Given the description of an element on the screen output the (x, y) to click on. 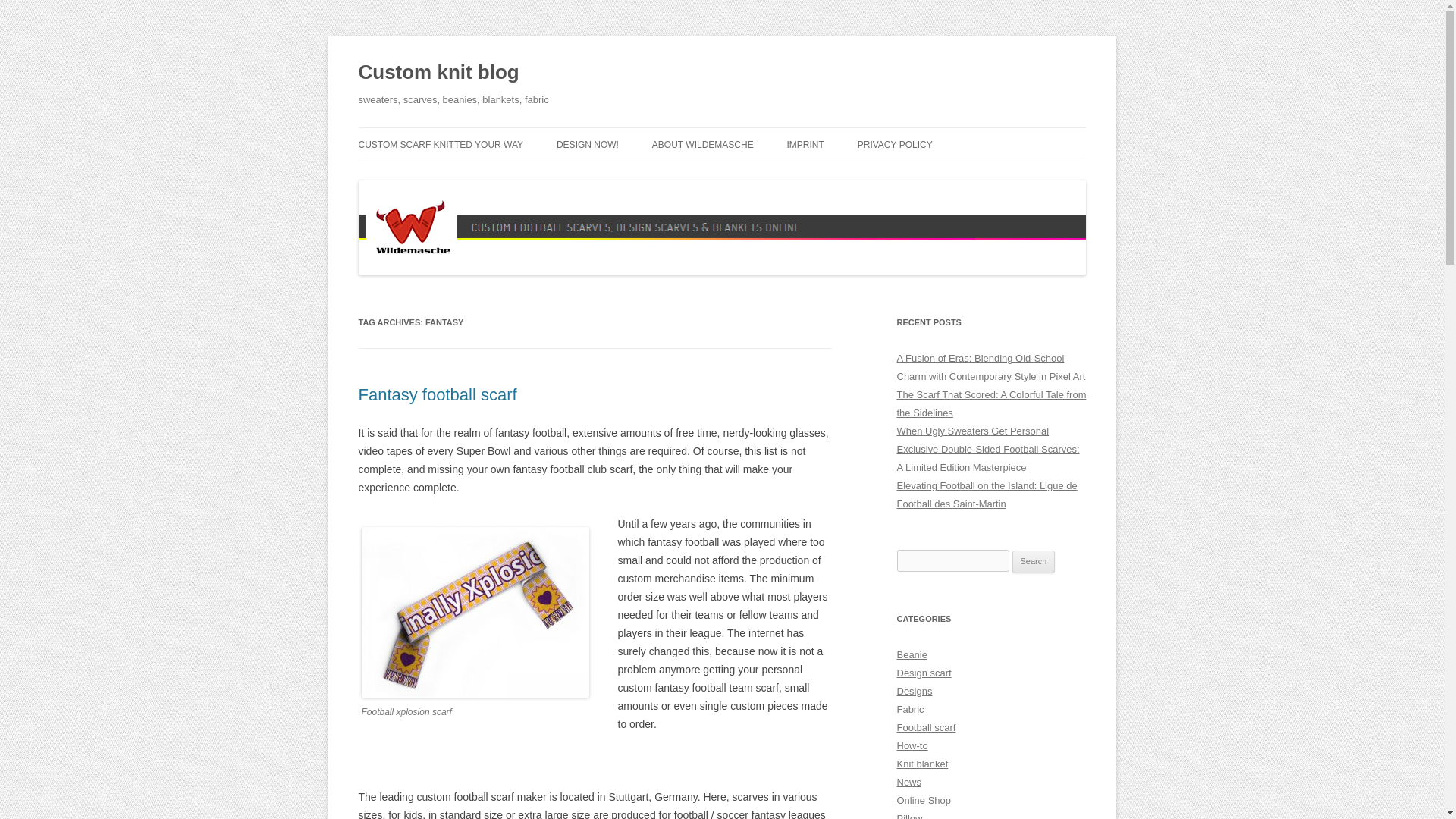
PRIVACY POLICY (895, 144)
Design scarf (923, 672)
Beanie (911, 654)
Custom knit blog (438, 72)
CUSTOM SCARF KNITTED YOUR WAY (440, 144)
How-to (911, 745)
Fantasy football scarf (437, 394)
When Ugly Sweaters Get Personal (972, 430)
Designs (913, 690)
Football scarf (925, 727)
Search (1033, 561)
Search (1033, 561)
IMPRINT (805, 144)
